Given the description of an element on the screen output the (x, y) to click on. 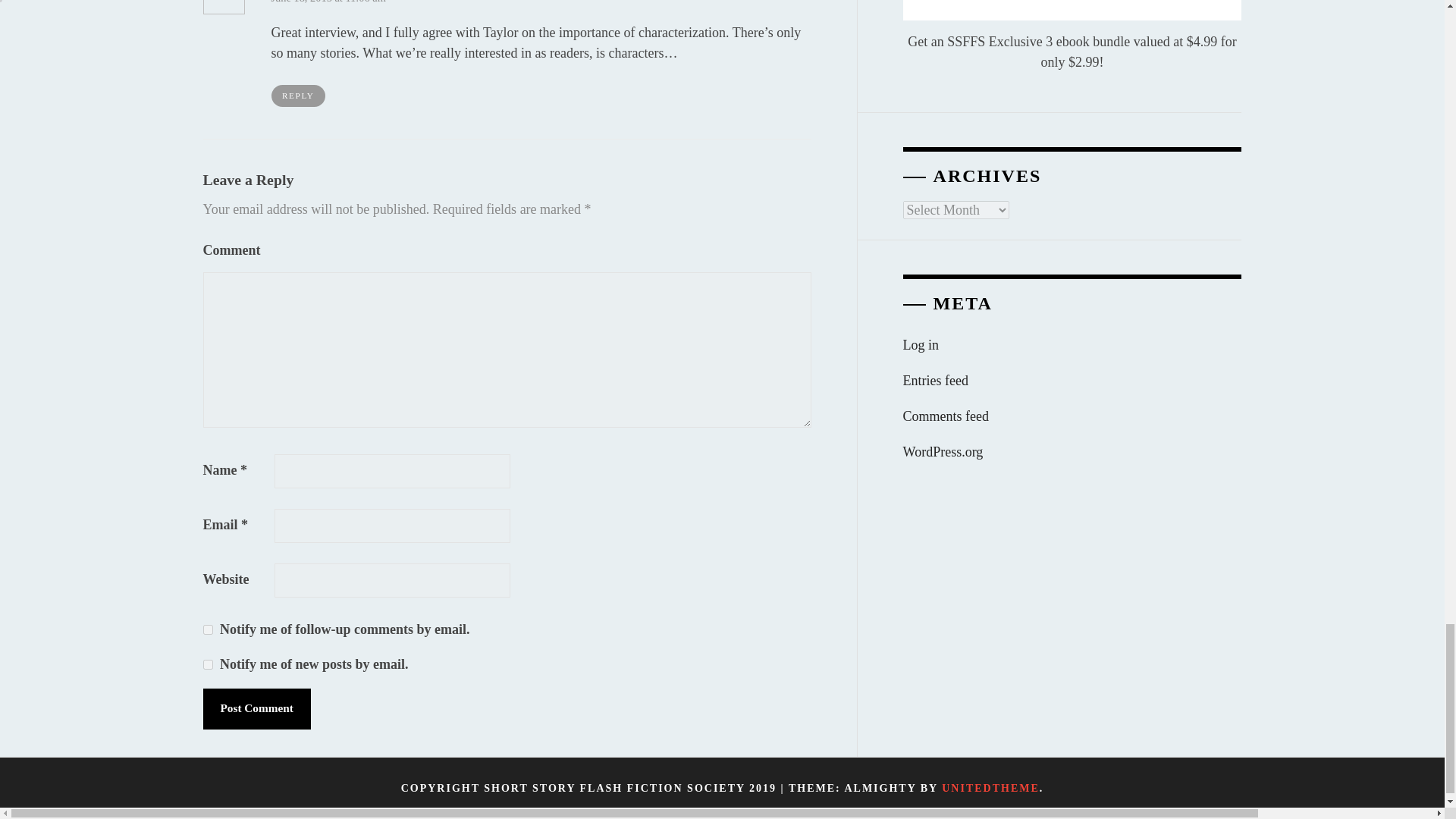
Post Comment (257, 708)
subscribe (207, 629)
subscribe (207, 664)
